Given the description of an element on the screen output the (x, y) to click on. 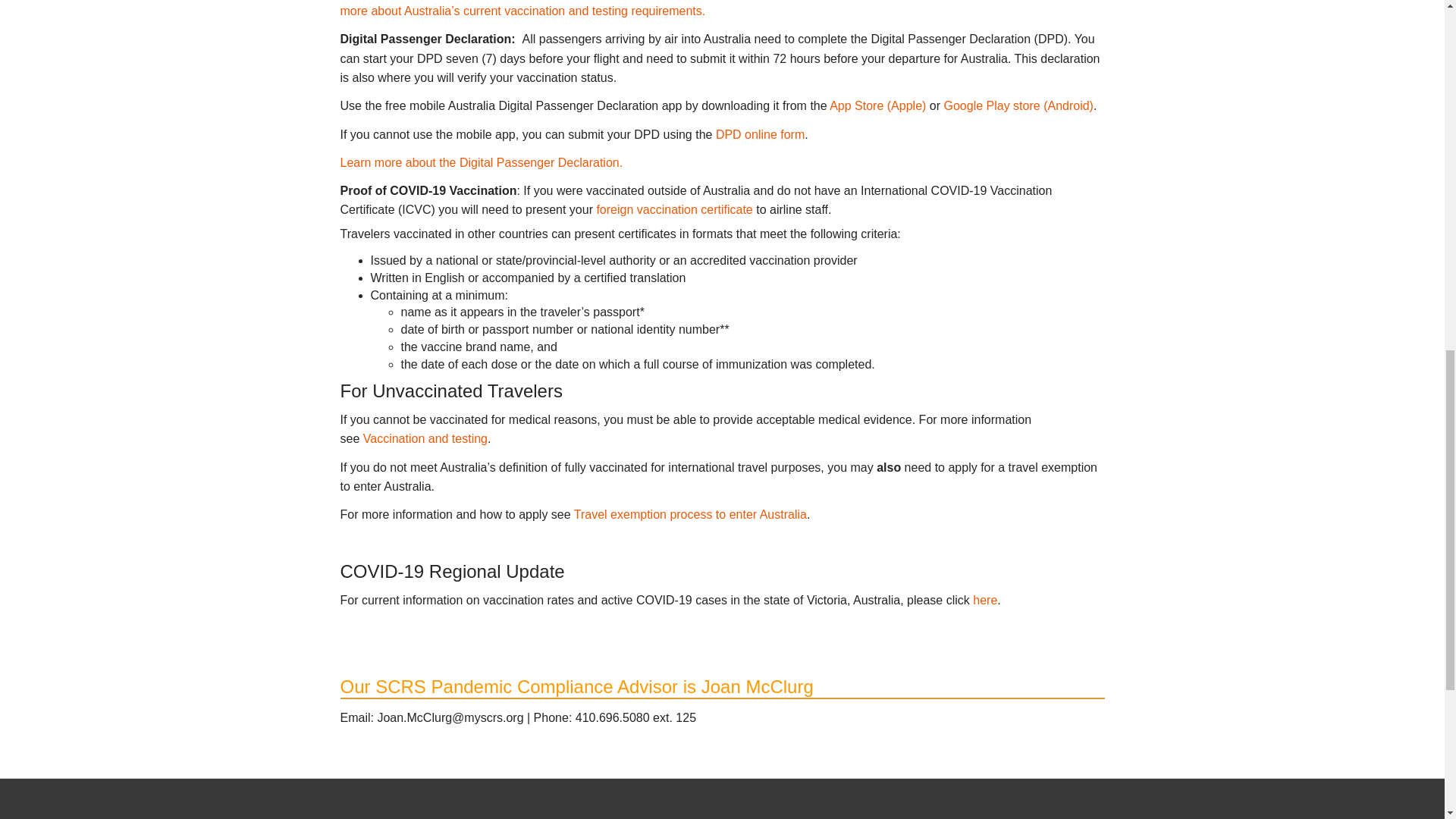
foreign vaccination certificate (673, 209)
Vaccination and testing (424, 438)
here (984, 599)
DPD online form (760, 133)
Learn more about the Digital Passenger Declaration. (481, 162)
Travel exemption process to enter Australia (689, 513)
